Given the description of an element on the screen output the (x, y) to click on. 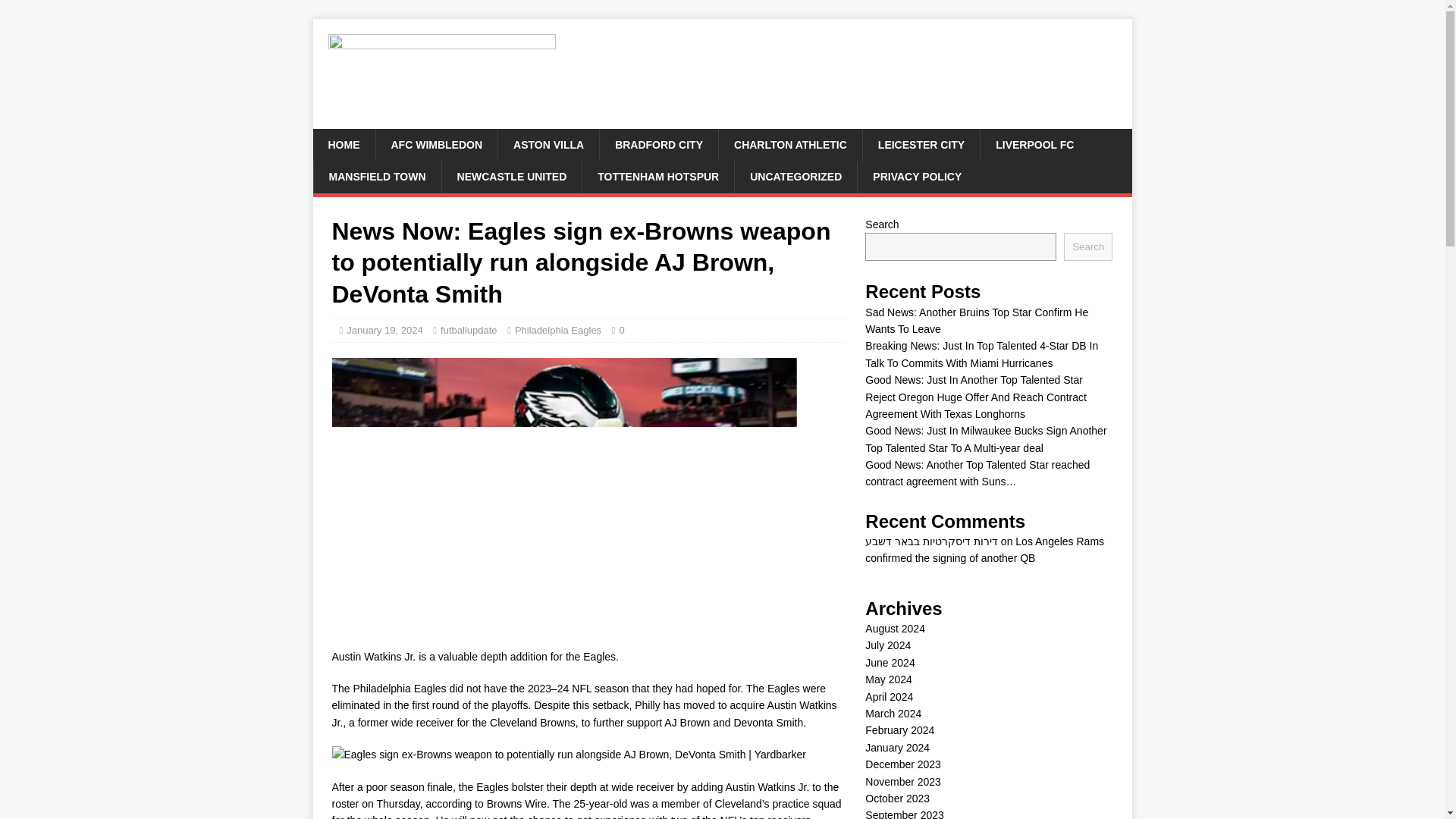
LIVERPOOL FC (1034, 144)
MANSFIELD TOWN (377, 176)
Sad News: Another Bruins Top Star Confirm He Wants To Leave (975, 320)
CHARLTON ATHLETIC (789, 144)
Philadelphia Eagles (558, 329)
UNCATEGORIZED (795, 176)
ASTON VILLA (547, 144)
TOTTENHAM HOTSPUR (656, 176)
AFC WIMBLEDON (435, 144)
PRIVACY POLICY (916, 176)
futballupdate (468, 329)
Search (1088, 246)
LEICESTER CITY (920, 144)
BRADFORD CITY (657, 144)
